Given the description of an element on the screen output the (x, y) to click on. 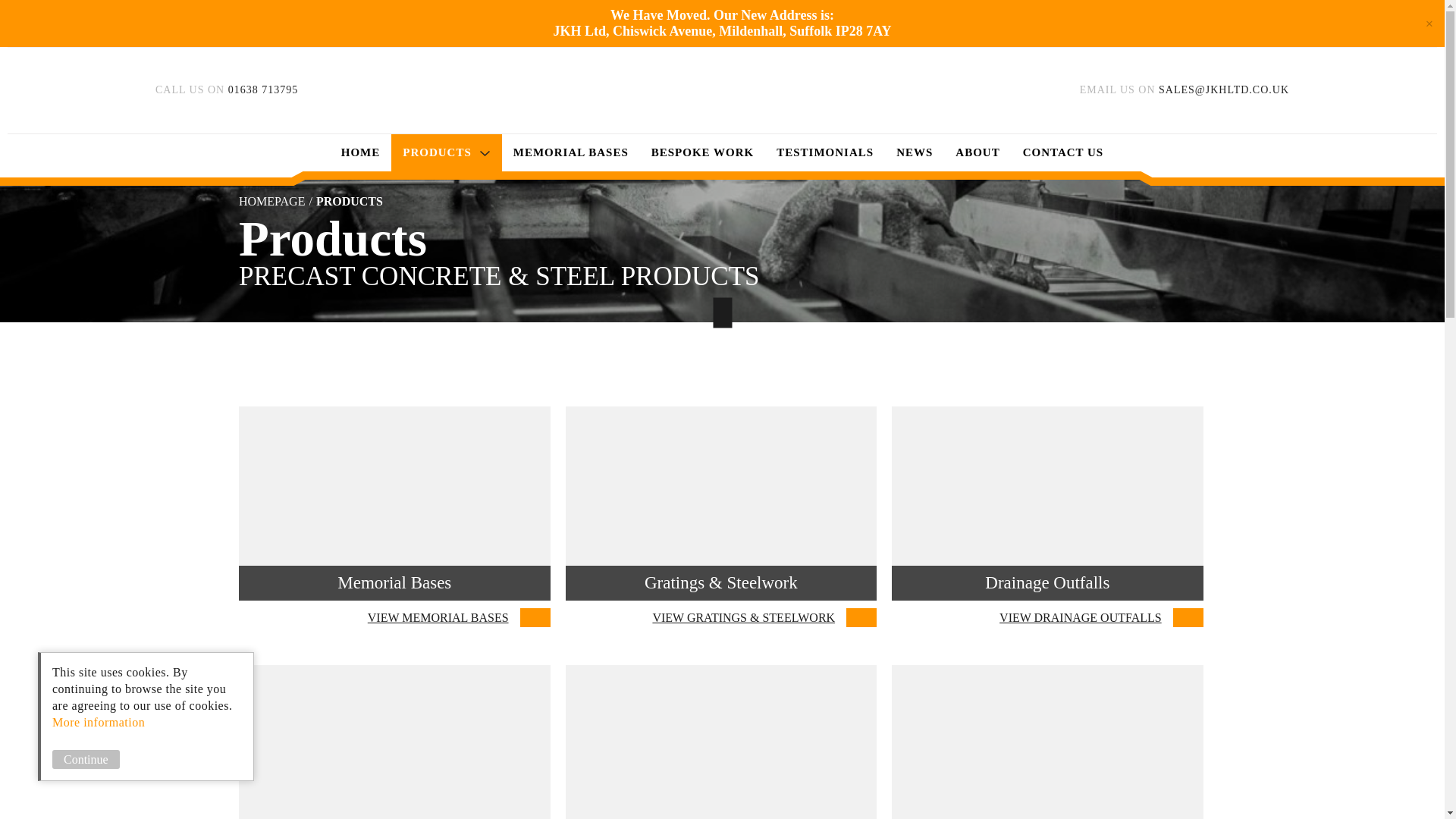
NEWS (914, 152)
CONTACT US (394, 516)
PRODUCTS (1063, 152)
BESPOKE WORK (446, 152)
HOMEPAGE (721, 742)
JKH Ltd, Chiswick Avenue, Mildenhall, Suffolk IP28 7AY (702, 152)
TESTIMONIALS (276, 201)
HOME (722, 30)
MEMORIAL BASES (825, 152)
ABOUT (360, 152)
CALL US ON 01638 713795 (571, 152)
